Given the description of an element on the screen output the (x, y) to click on. 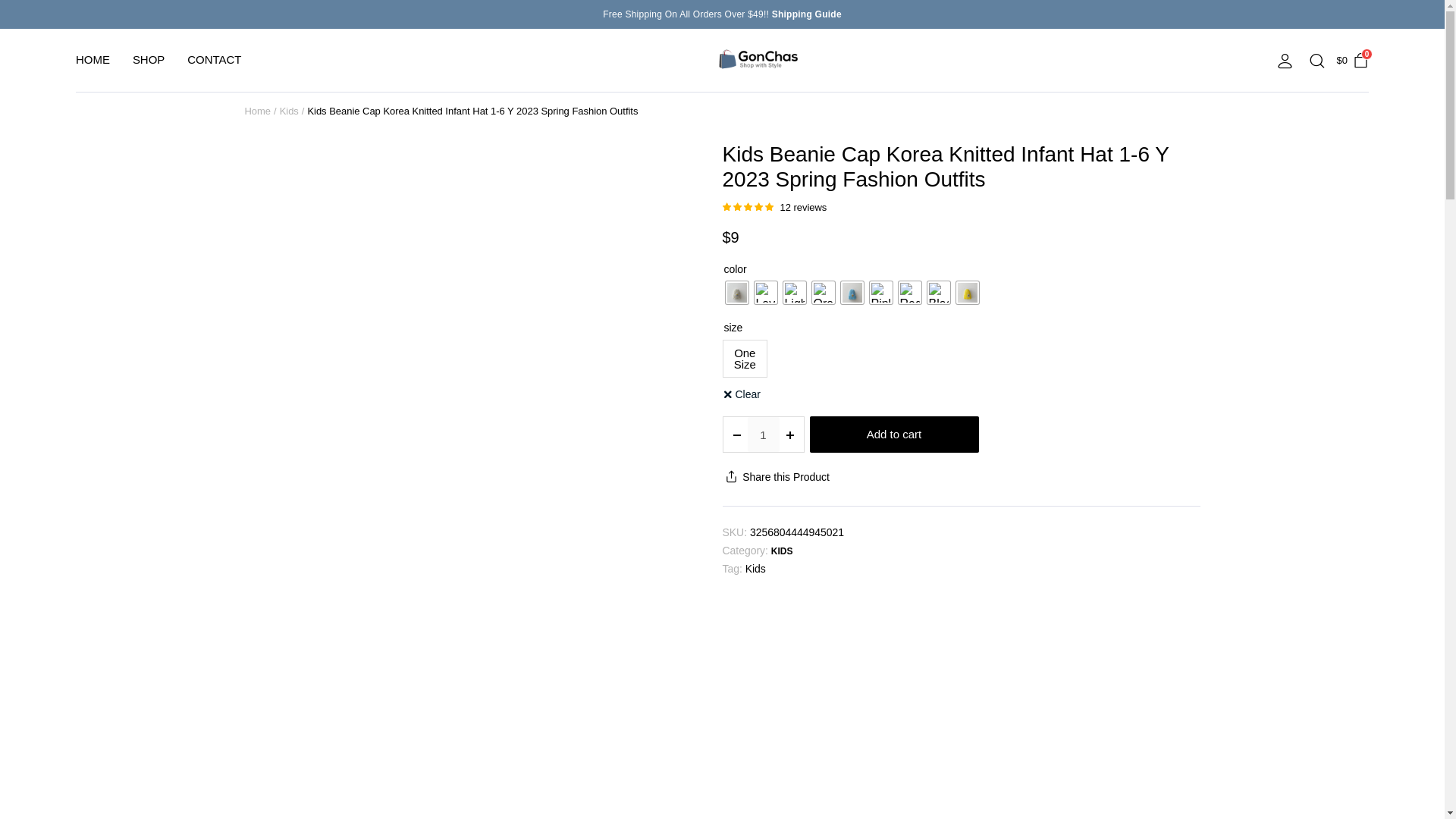
Light Green (794, 292)
1 (763, 434)
Pink (880, 292)
Yellow (966, 292)
Clear (741, 394)
12 reviews (802, 206)
Home (257, 111)
GonChas (757, 60)
Lavender (765, 292)
Kids (755, 568)
